Given the description of an element on the screen output the (x, y) to click on. 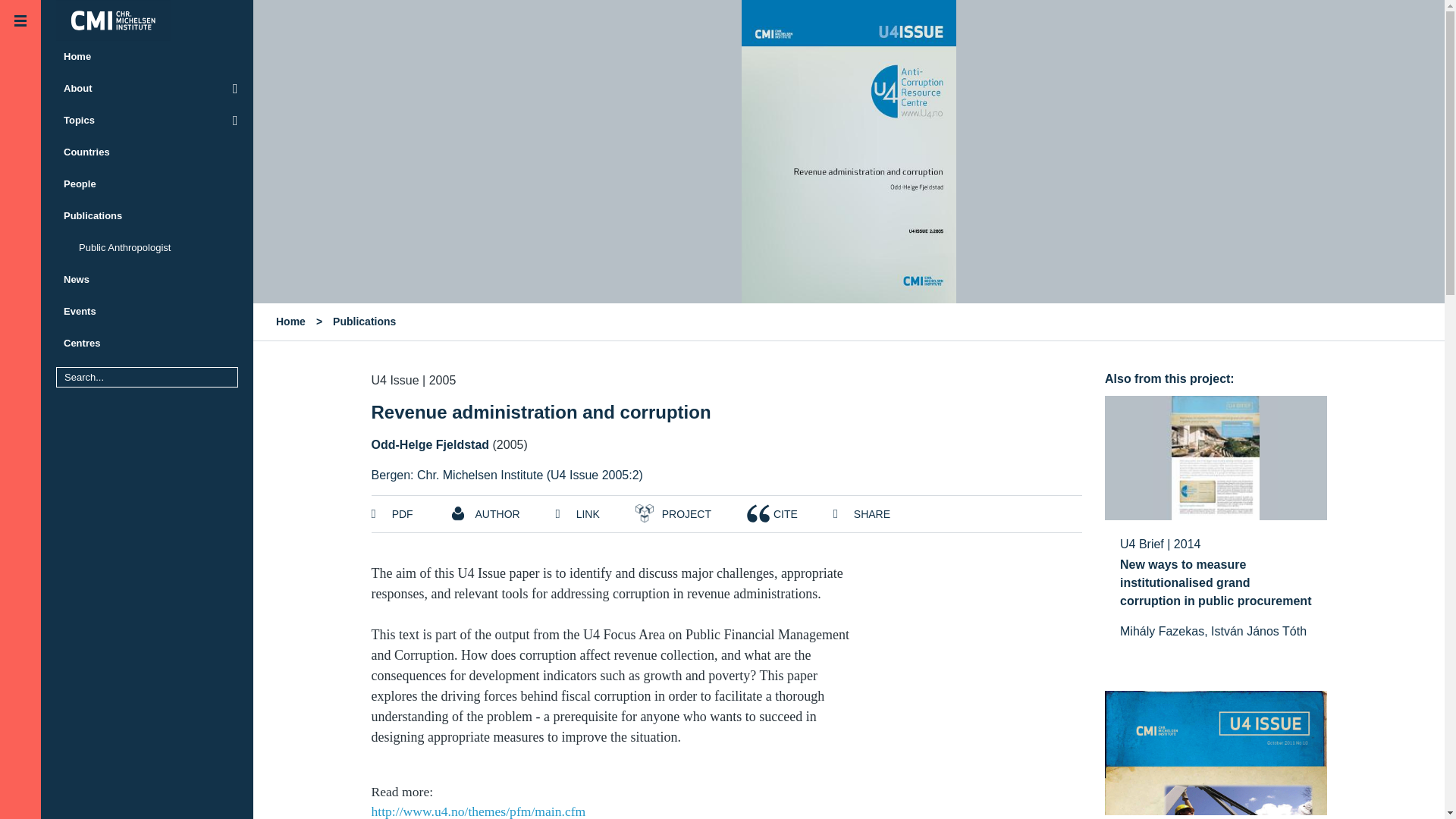
Countries (146, 152)
Public Anthropologist (146, 247)
Centres (146, 343)
News (146, 279)
About (146, 88)
Publications (364, 321)
Events (146, 311)
Revenue administration and corruption (541, 412)
AUTHOR (483, 513)
Publications (146, 215)
Topics (146, 120)
About (146, 88)
Home (146, 56)
PDF (392, 513)
